Given the description of an element on the screen output the (x, y) to click on. 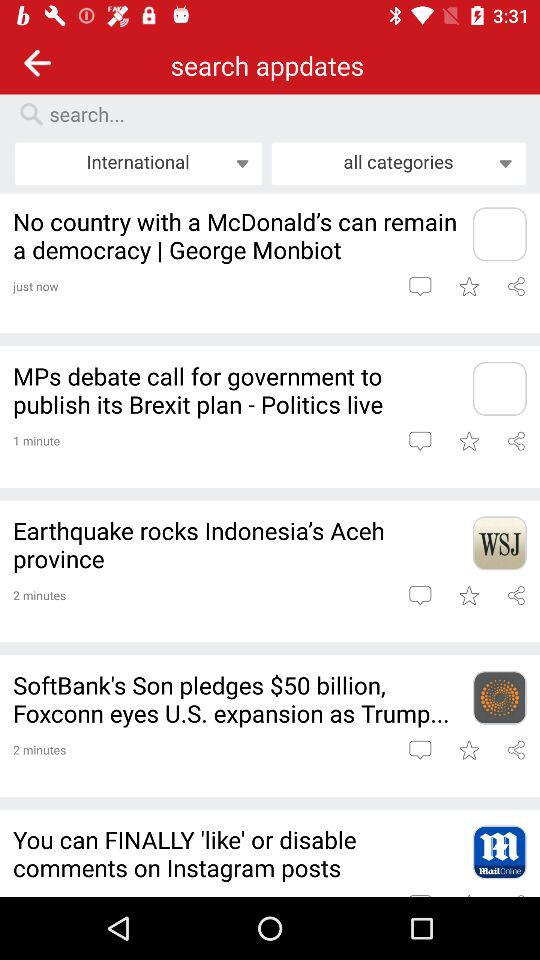
comments option (419, 286)
